Given the description of an element on the screen output the (x, y) to click on. 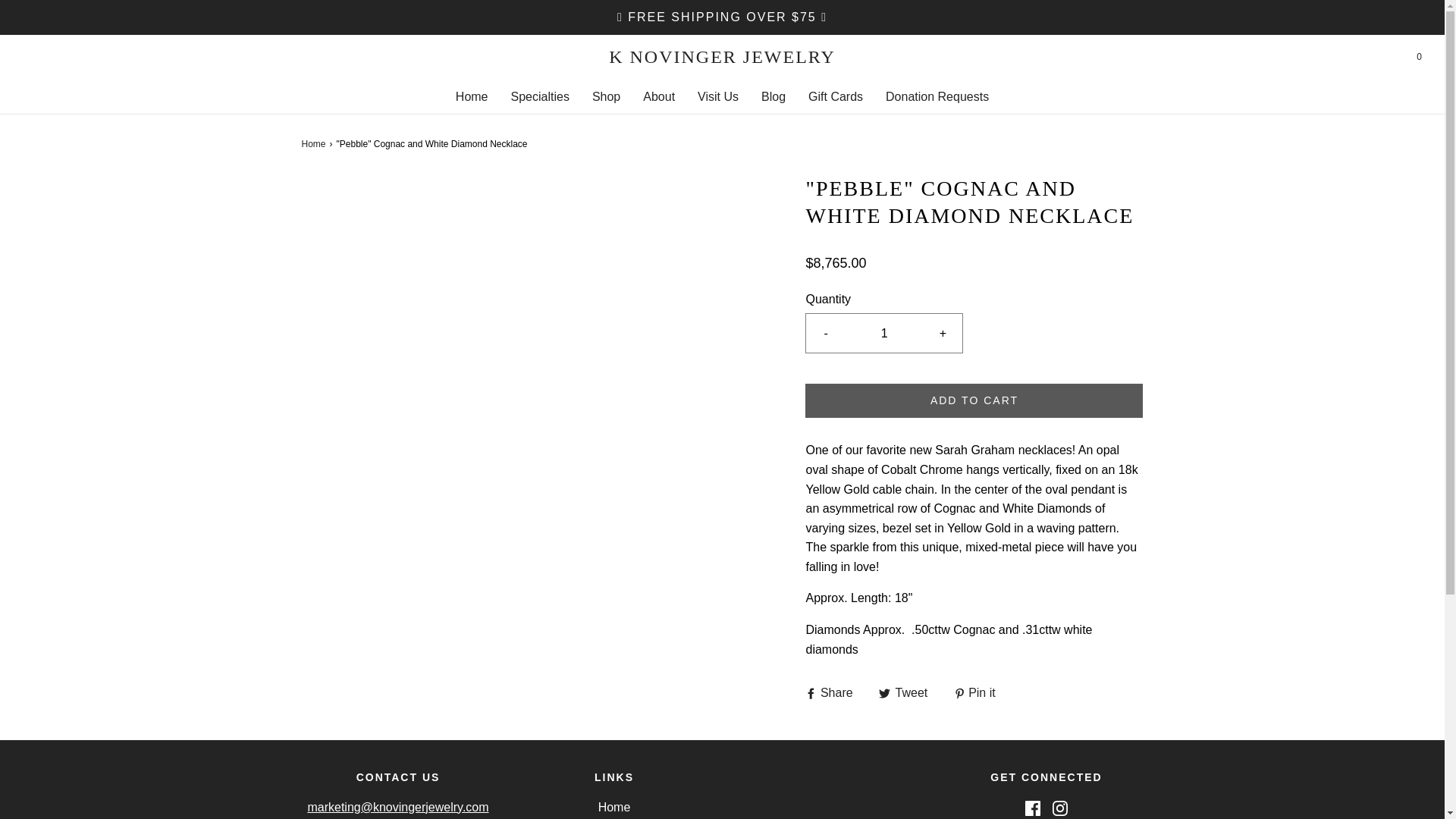
Home (471, 96)
Back to the frontpage (315, 144)
K NOVINGER JEWELRY (721, 56)
Specialties (540, 96)
Instagram icon (1059, 807)
Facebook icon (1033, 807)
1 (884, 332)
